Given the description of an element on the screen output the (x, y) to click on. 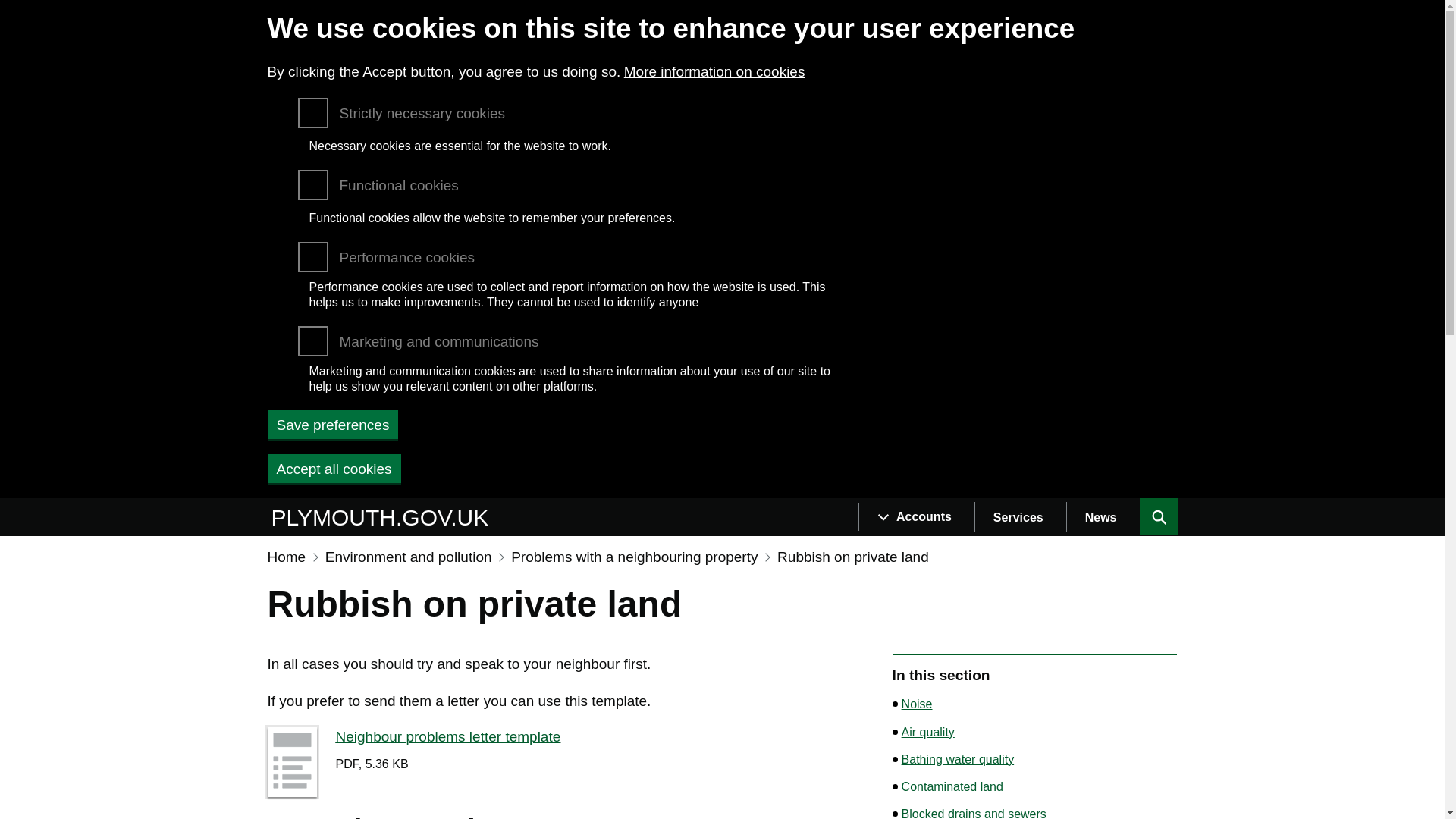
Bathing water quality (957, 759)
Accounts (916, 516)
Contaminated land (952, 786)
Environment and pollution (408, 556)
Skip to main content (11, 505)
More information on cookies (714, 71)
Services (1019, 516)
Blocked drains and sewers (973, 812)
Home (381, 517)
Save preferences (331, 424)
Problems with a neighbouring property (634, 556)
Neighbour problems letter template (447, 736)
Noise (917, 703)
Home (285, 556)
Air quality (928, 731)
